Given the description of an element on the screen output the (x, y) to click on. 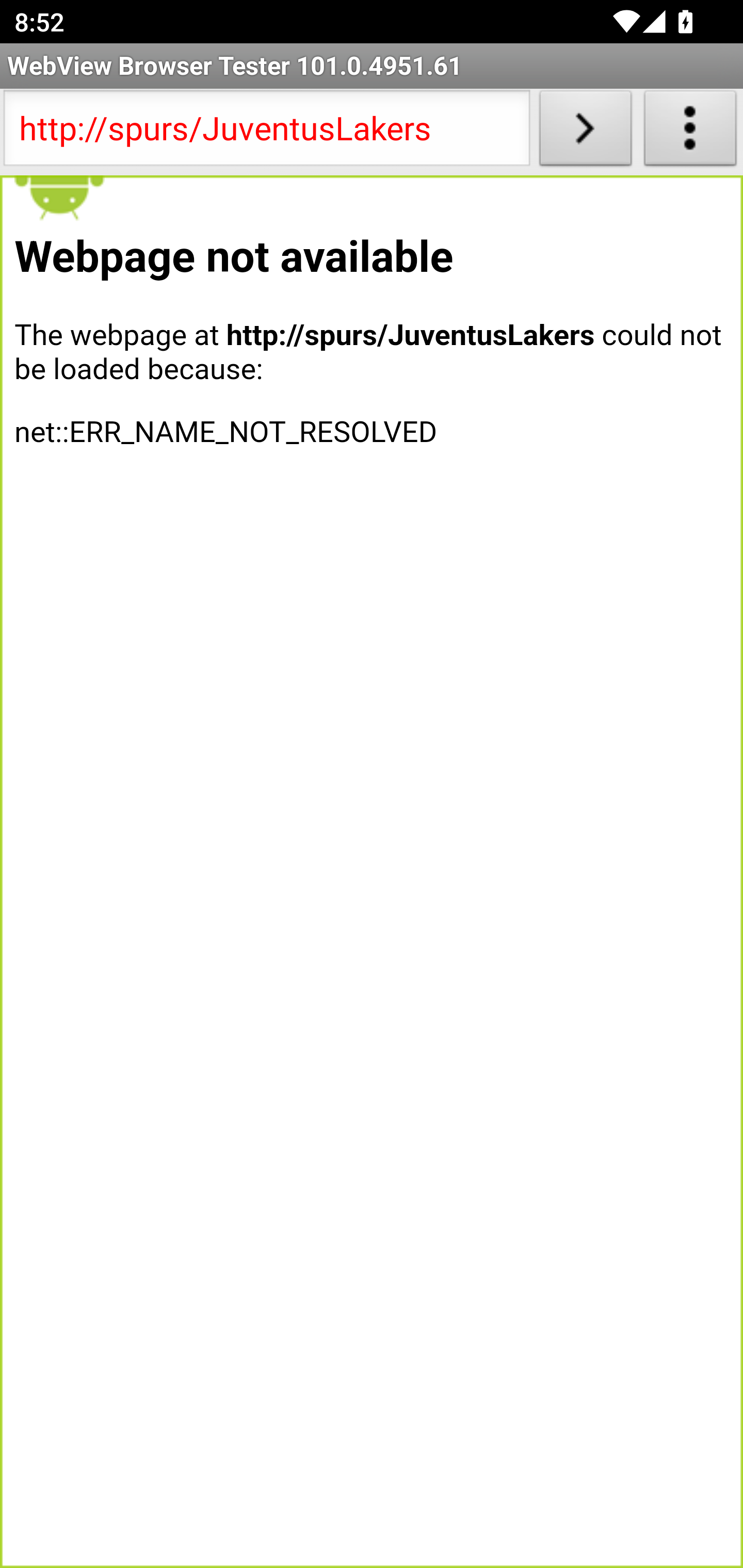
http://spurs/JuventusLakers (266, 132)
Load URL (585, 132)
About WebView (690, 132)
